Given the description of an element on the screen output the (x, y) to click on. 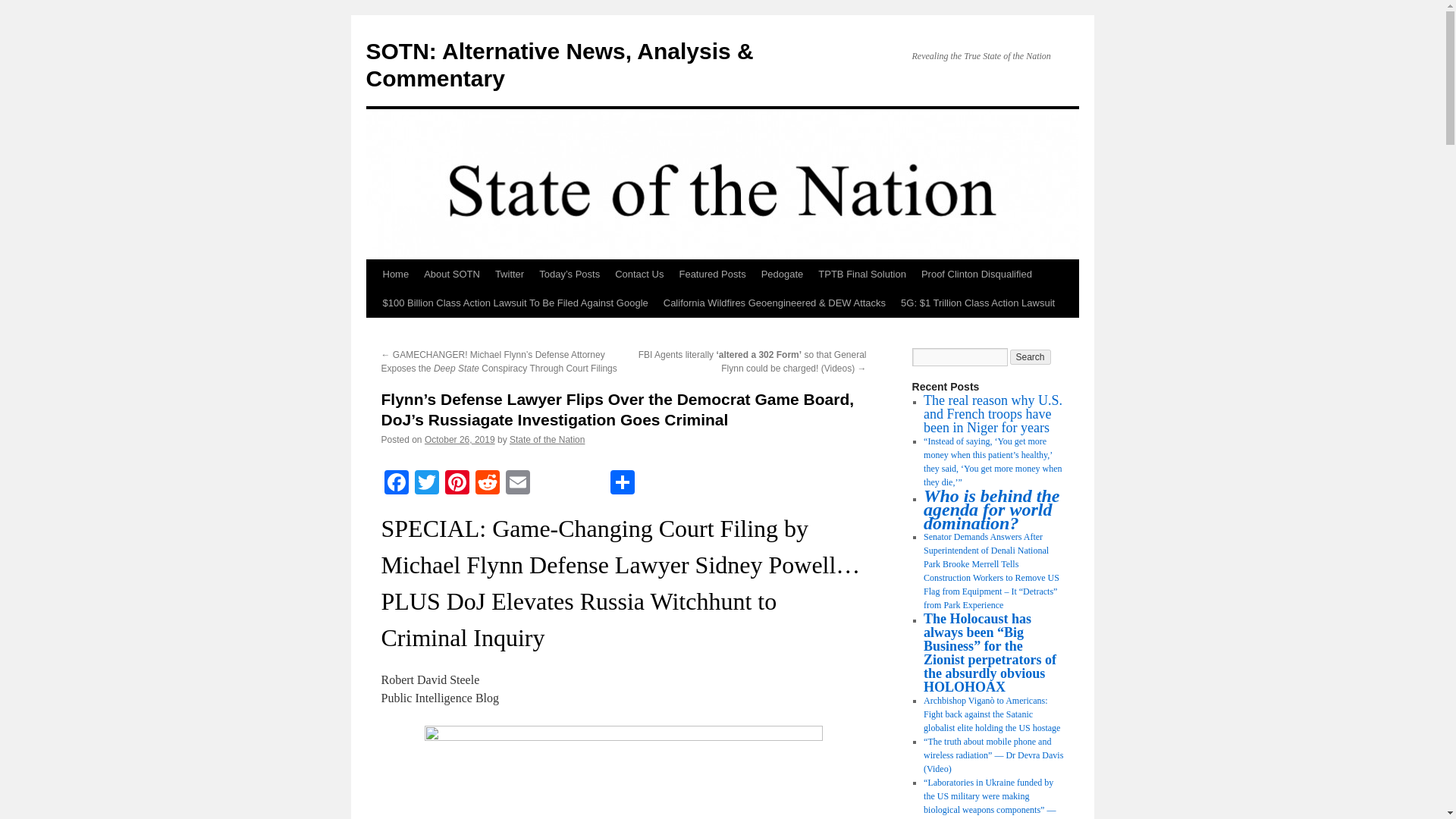
Facebook (395, 483)
October 26, 2019 (460, 439)
About SOTN (451, 274)
Twitter (425, 483)
Search (1030, 356)
TPTB Final Solution (862, 274)
Pinterest (456, 483)
Contact Us (639, 274)
Featured Posts (711, 274)
Pedogate (782, 274)
Twitter (425, 483)
Reddit (486, 483)
Email (517, 483)
State of the Nation (547, 439)
View all posts by State of the Nation (547, 439)
